Given the description of an element on the screen output the (x, y) to click on. 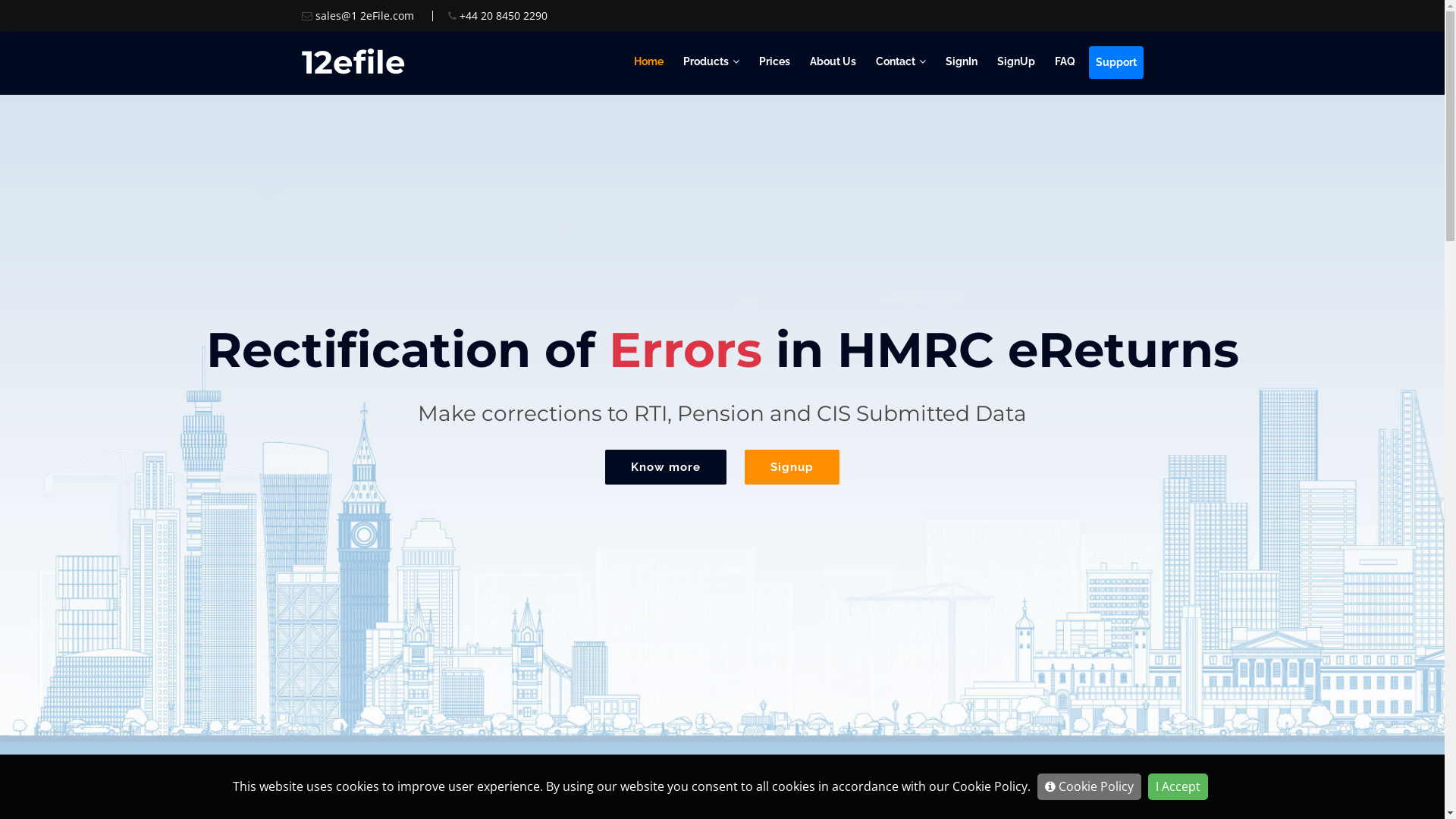
SignUp Element type: text (1015, 61)
SignIn Element type: text (960, 61)
About Us Element type: text (832, 61)
FAQ Element type: text (1064, 61)
I Accept Element type: text (1178, 786)
sales@1 2eFile.com Element type: text (364, 15)
Contact Element type: text (900, 61)
Know more Element type: text (665, 467)
12efile Element type: text (353, 62)
Signup Element type: text (791, 467)
Cookie Policy Element type: text (1089, 786)
Prices Element type: text (773, 61)
Products Element type: text (710, 61)
Support Element type: text (1115, 62)
Home Element type: text (648, 61)
